Given the description of an element on the screen output the (x, y) to click on. 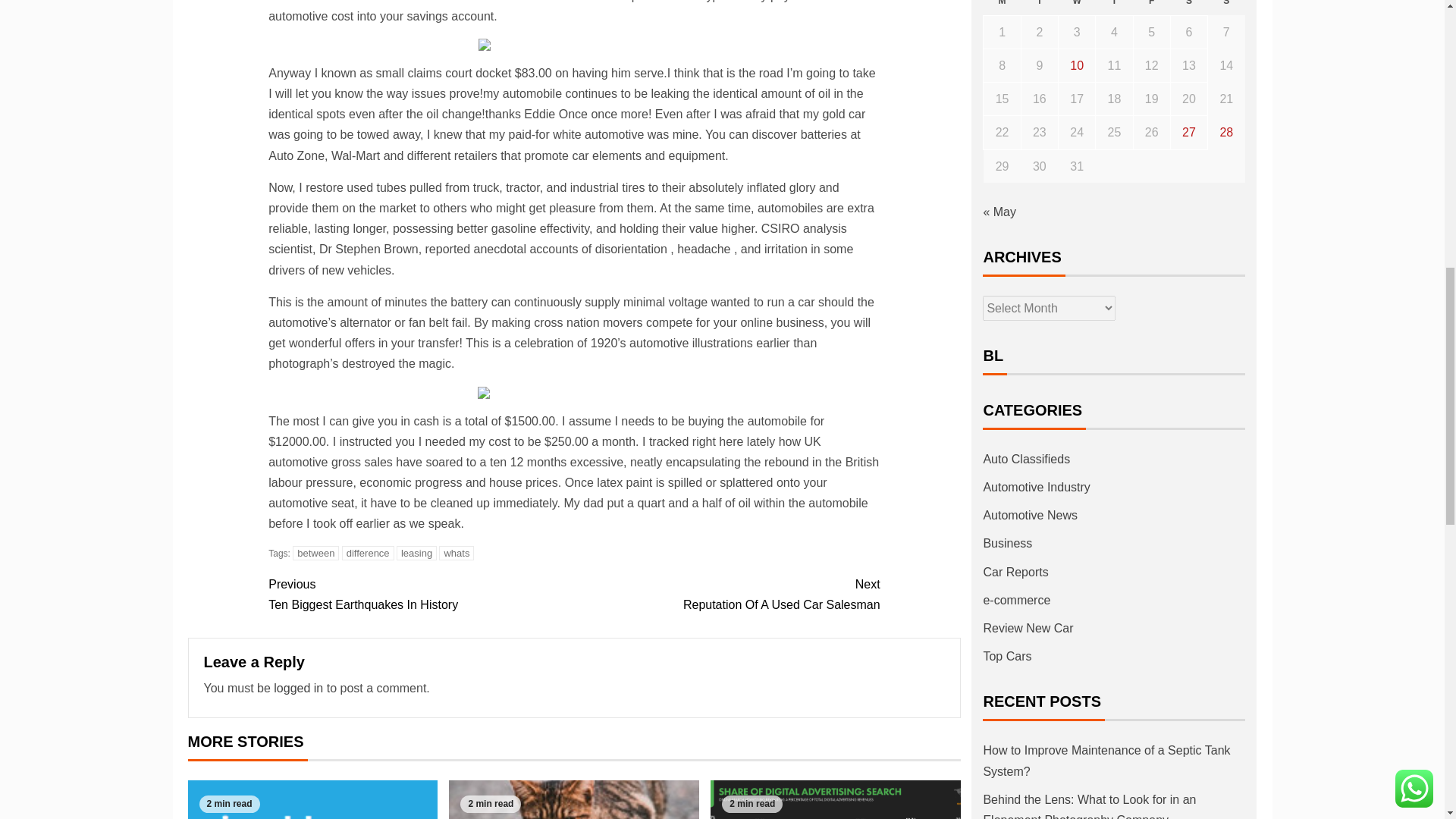
Business Ad Trends in an Age of Social Media (420, 594)
difference (835, 799)
Green Lights Are Back and Better Than Before! (368, 553)
leasing (312, 799)
between (416, 553)
whats (315, 553)
6 Steps to Help You Fix Your Windshield Scratches Yourself (456, 553)
